Given the description of an element on the screen output the (x, y) to click on. 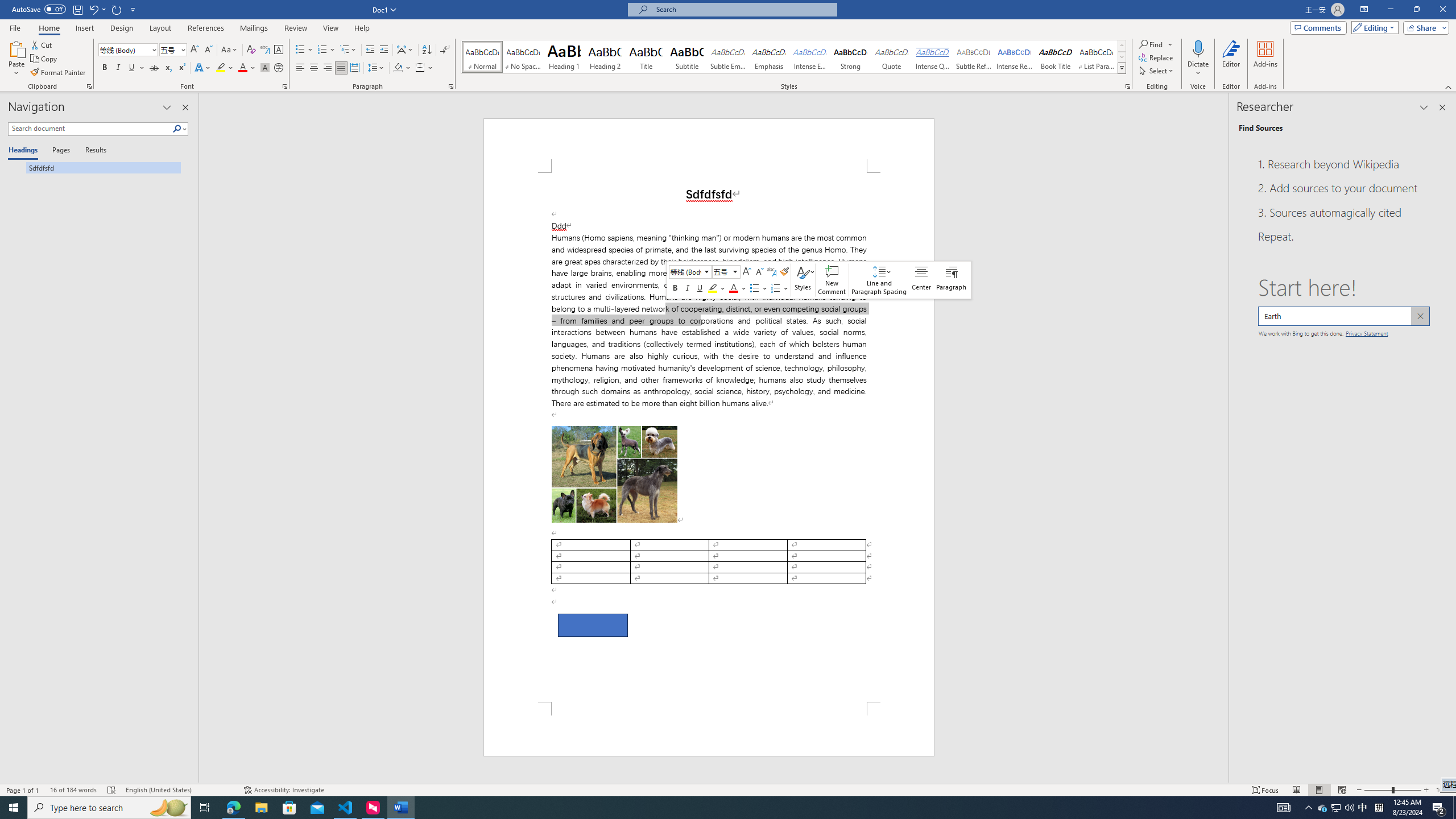
Emphasis (768, 56)
Research people, events, concepts, and places (1343, 315)
Repeat Insert Shape (117, 9)
